Given the description of an element on the screen output the (x, y) to click on. 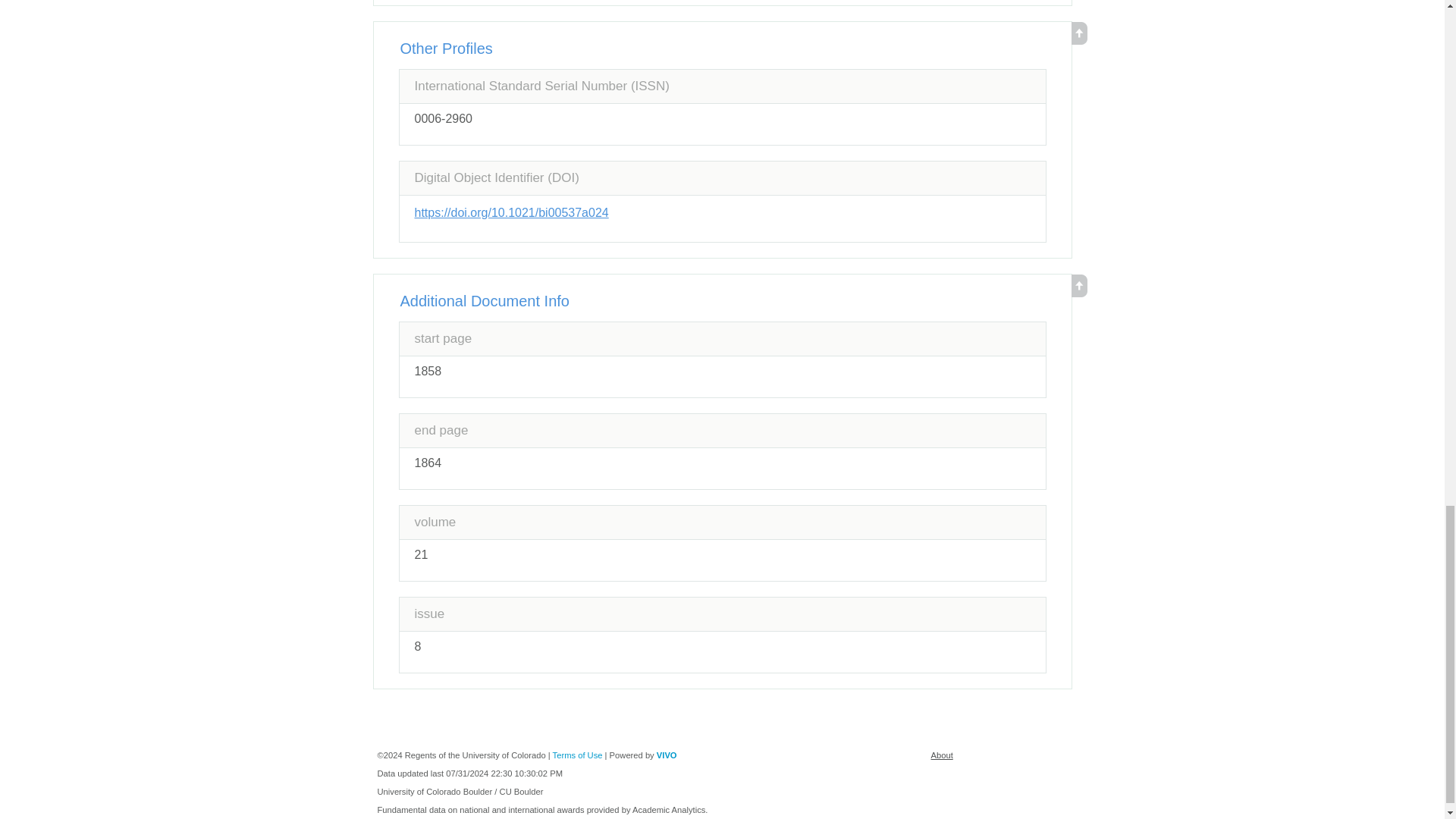
About (942, 755)
VIVO (666, 755)
Terms of Use (577, 755)
